Given the description of an element on the screen output the (x, y) to click on. 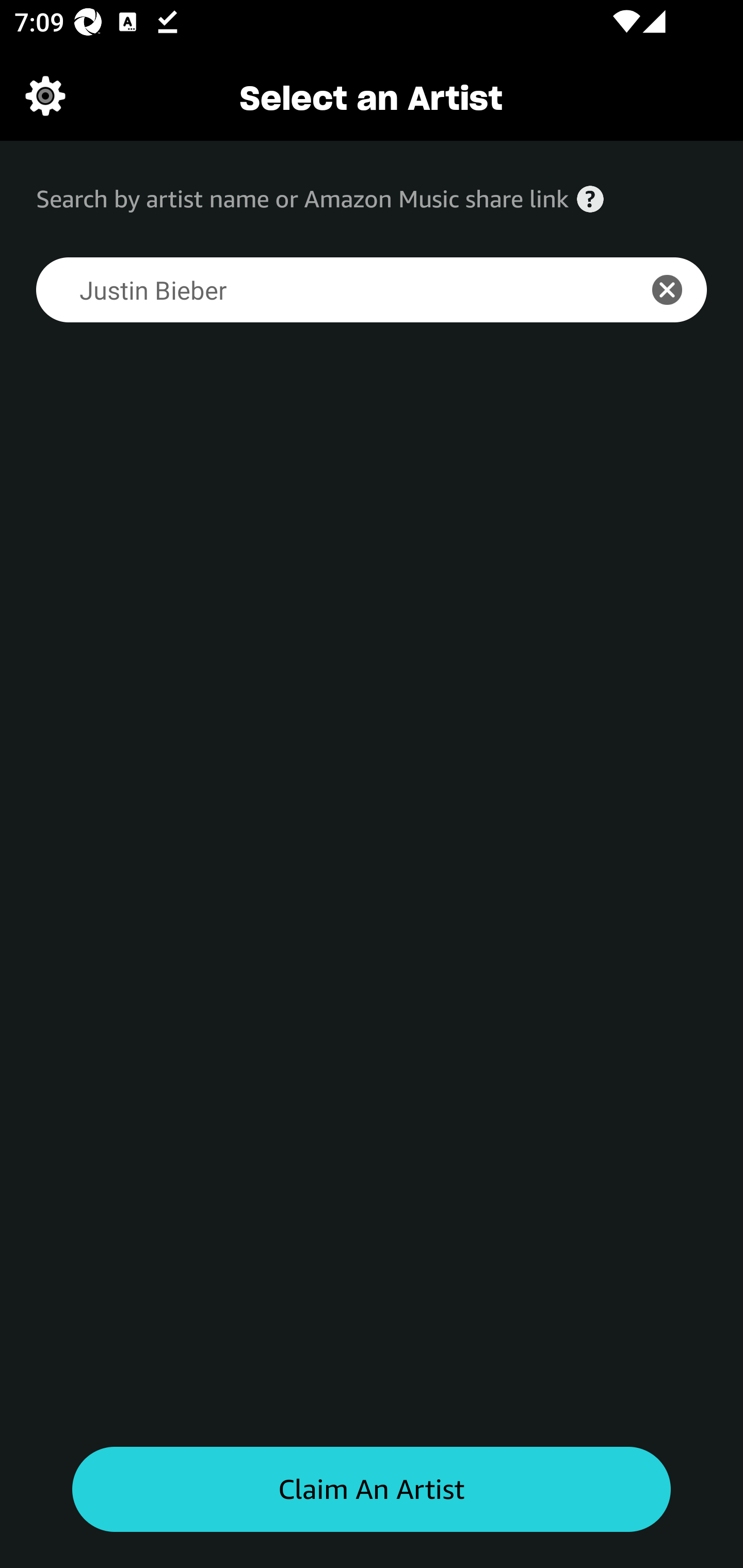
Help  icon (589, 199)
Justin Bieber Search for an artist search bar (324, 290)
 icon (677, 290)
Claim an artist button Claim An Artist (371, 1489)
